Given the description of an element on the screen output the (x, y) to click on. 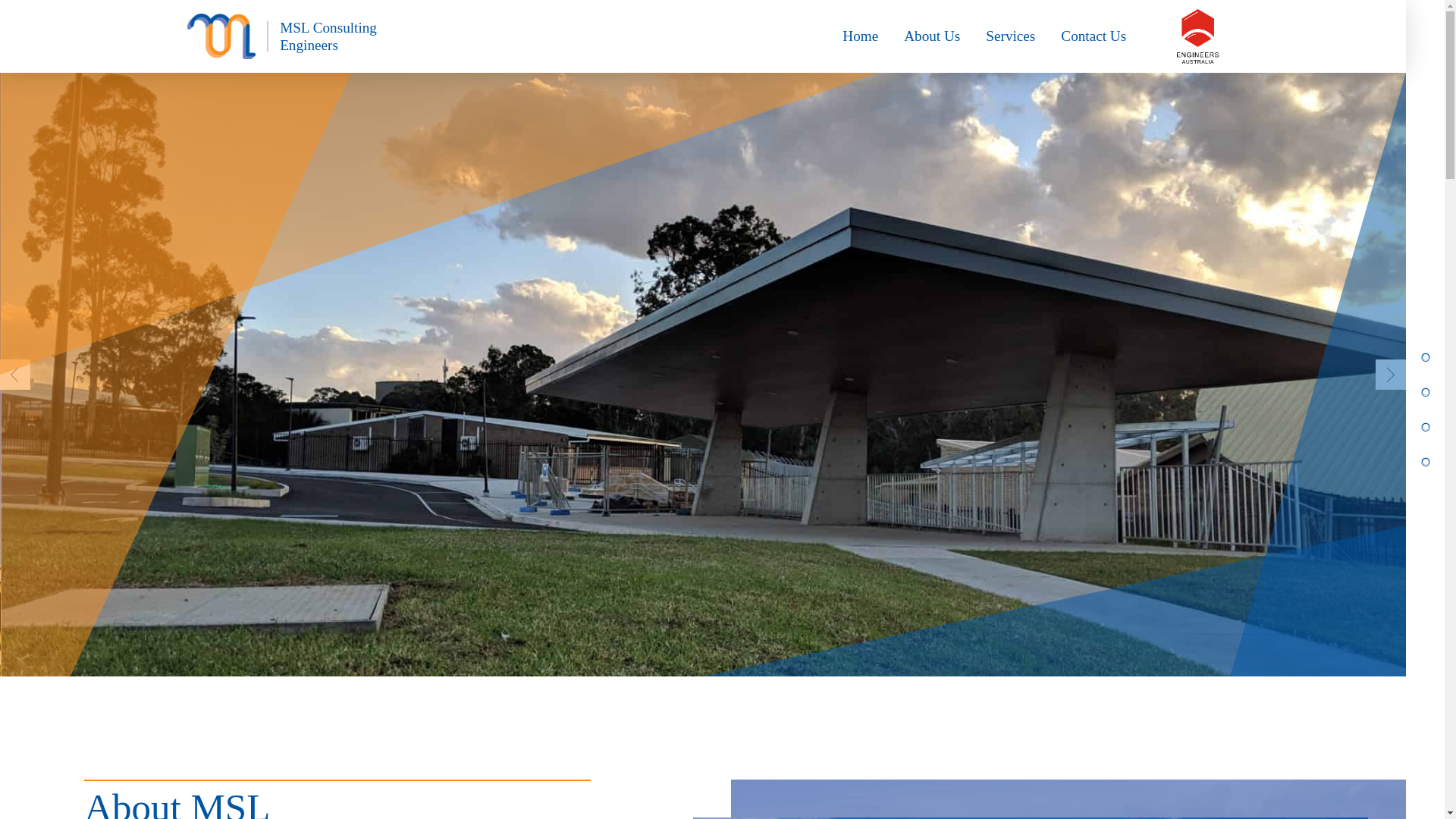
Home Element type: text (860, 36)
Contact Us Element type: text (1093, 36)
Services Element type: text (1010, 36)
About Us Element type: text (931, 36)
